Given the description of an element on the screen output the (x, y) to click on. 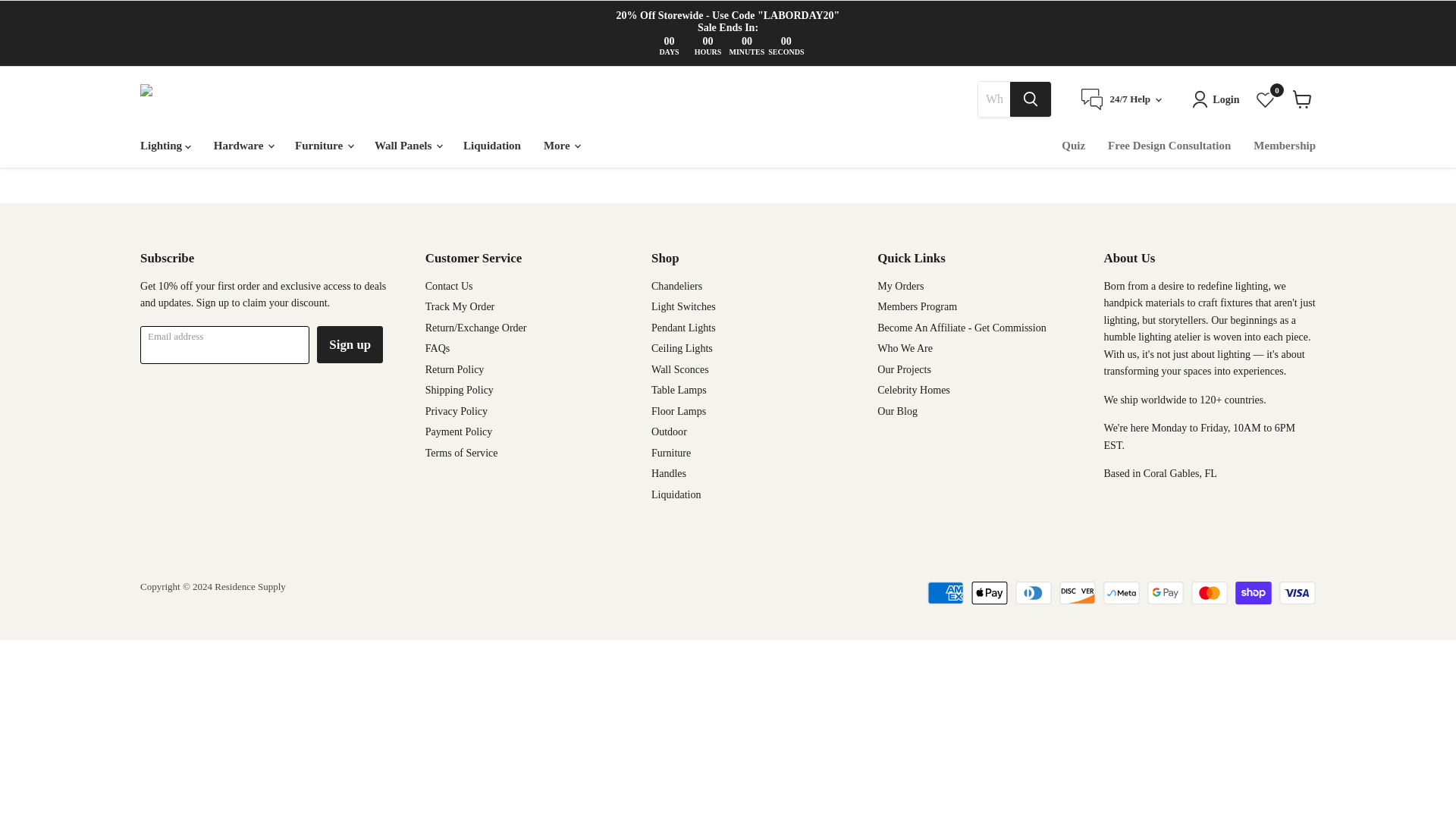
Login (1218, 98)
Mastercard (1209, 592)
View cart (1302, 99)
Google Pay (1165, 592)
0 (1265, 100)
Shop Pay (1252, 592)
Discover (1077, 592)
Diners Club (1032, 592)
Meta Pay (1121, 592)
Apple Pay (989, 592)
